Given the description of an element on the screen output the (x, y) to click on. 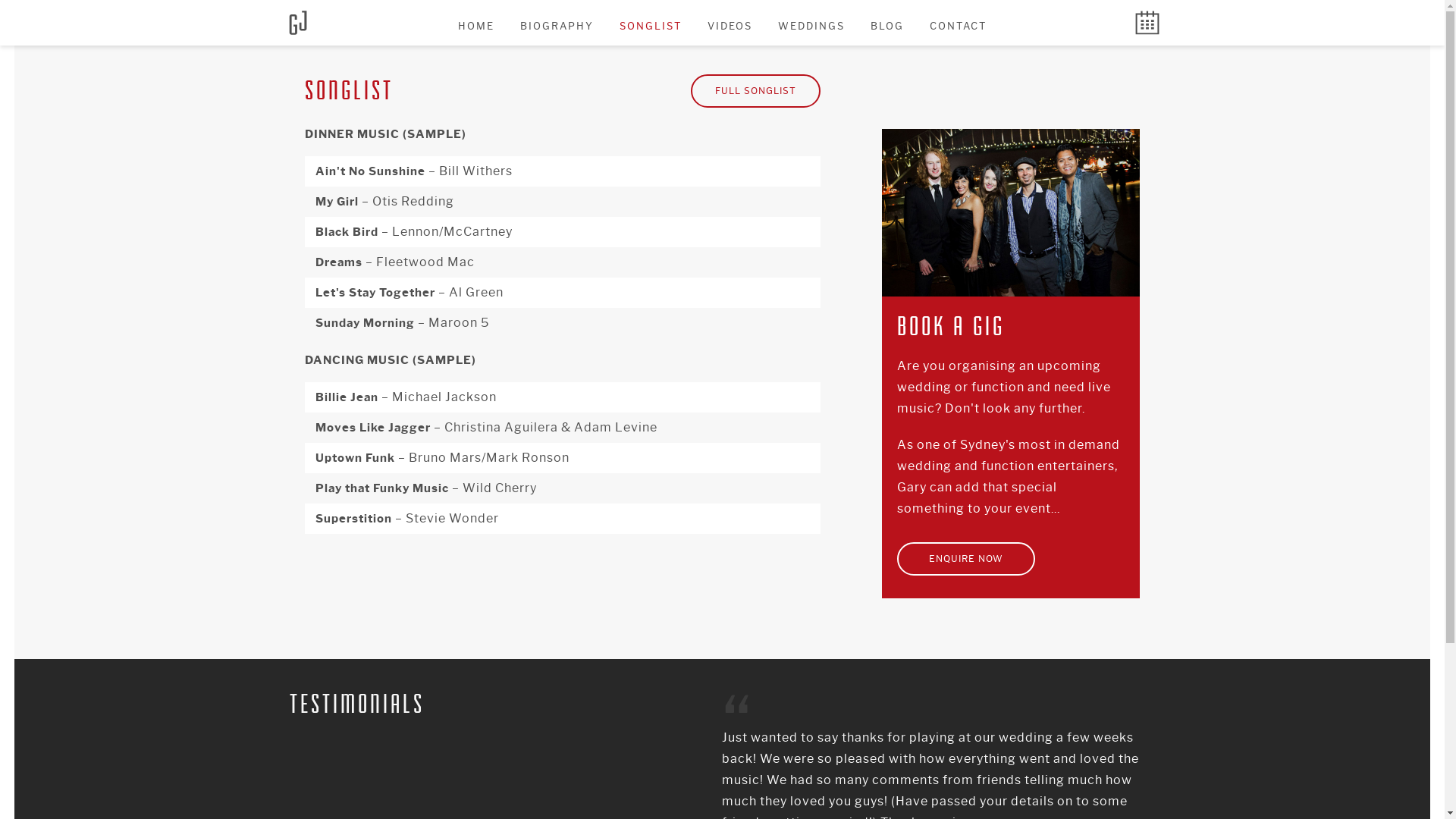
CONTACT Element type: text (957, 25)
ENQUIRE NOW Element type: text (966, 558)
WEDDINGS Element type: text (811, 25)
FULL SONGLIST Element type: text (755, 90)
SONGLIST Element type: text (650, 25)
BIOGRAPHY Element type: text (556, 25)
HOME Element type: text (475, 25)
BLOG Element type: text (887, 25)
VIDEOS Element type: text (729, 25)
